Given the description of an element on the screen output the (x, y) to click on. 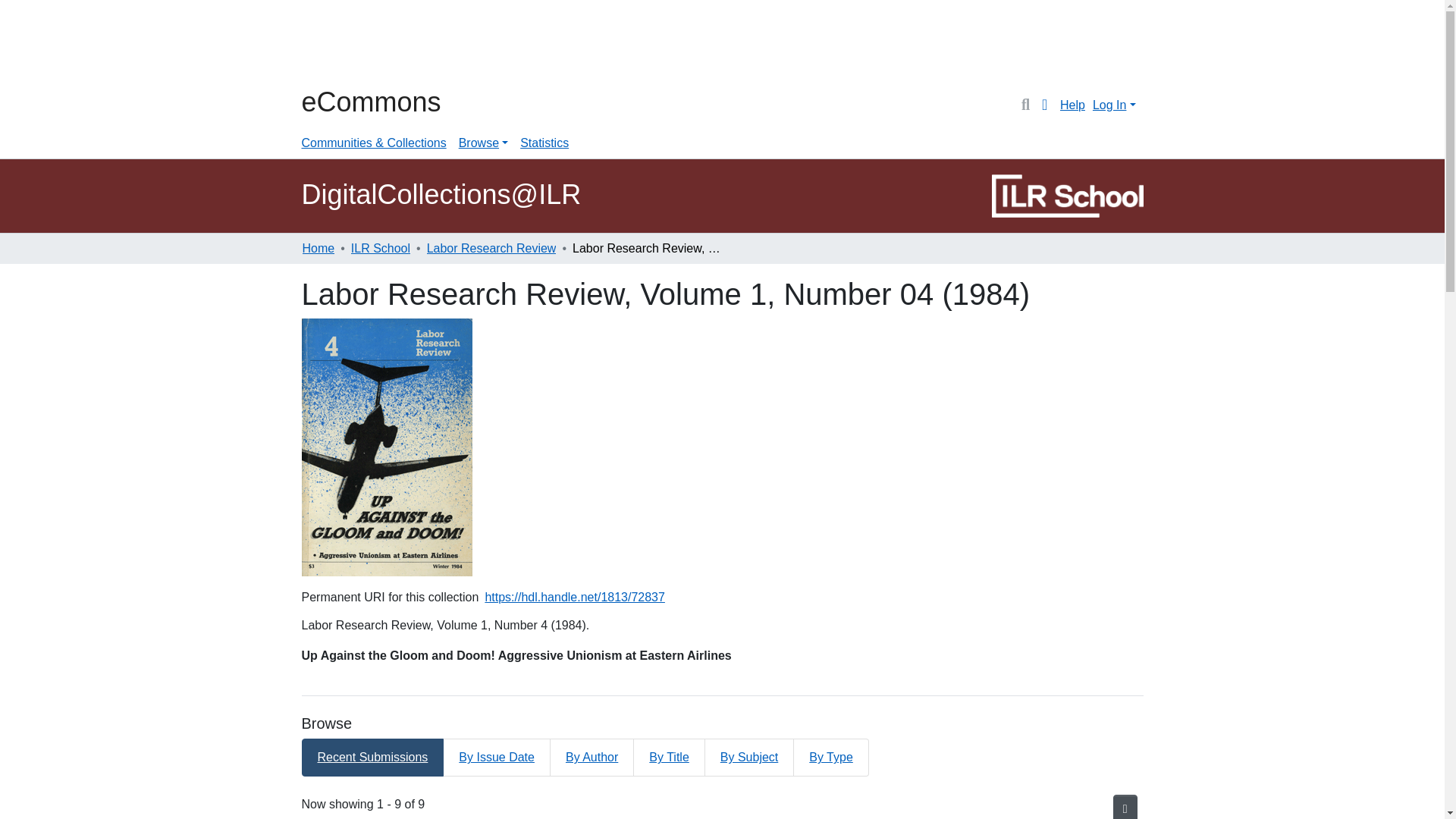
eCommons (371, 101)
Log In (1113, 104)
By Issue Date (497, 757)
Statistics (544, 142)
By Type (831, 757)
By Author (591, 757)
By Subject (748, 757)
Library (362, 43)
Search (1025, 105)
Help (1071, 104)
Language switch (1044, 105)
Browse (482, 142)
Syndication feed (1125, 806)
Cornell University (339, 43)
ILR School (380, 248)
